Given the description of an element on the screen output the (x, y) to click on. 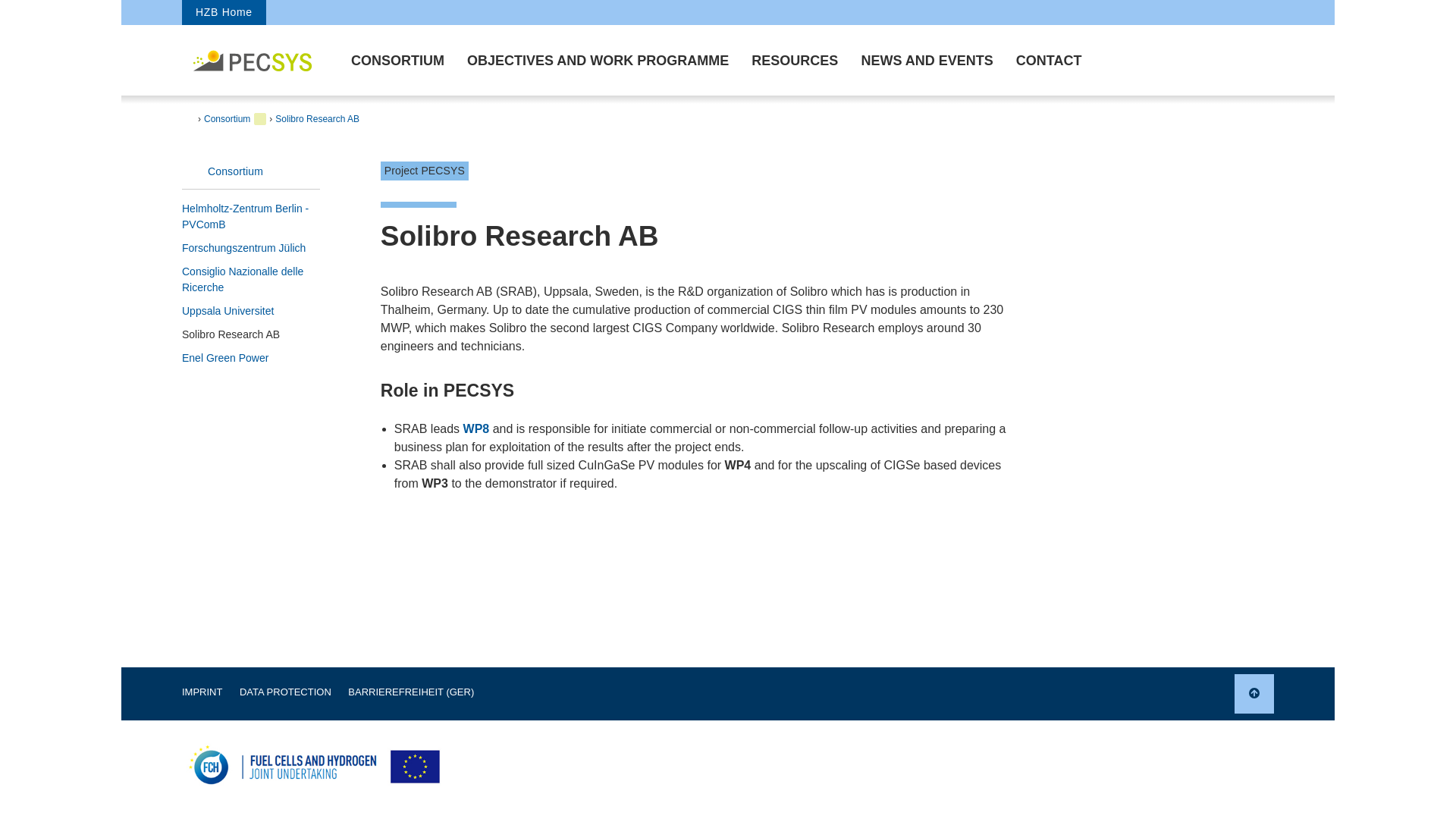
NEWS AND EVENTS (926, 60)
Contact (1048, 60)
Objectives and Work Programme (597, 60)
News and Events (926, 60)
Solibro Research AB (317, 119)
Consortium (251, 170)
RESOURCES (793, 60)
Consortium (397, 60)
CONTACT (1048, 60)
HZB Home (224, 12)
Consortium (226, 119)
HZB Home (224, 12)
OBJECTIVES AND WORK PROGRAMME (597, 60)
PECSYS (252, 60)
Resources (793, 60)
